Given the description of an element on the screen output the (x, y) to click on. 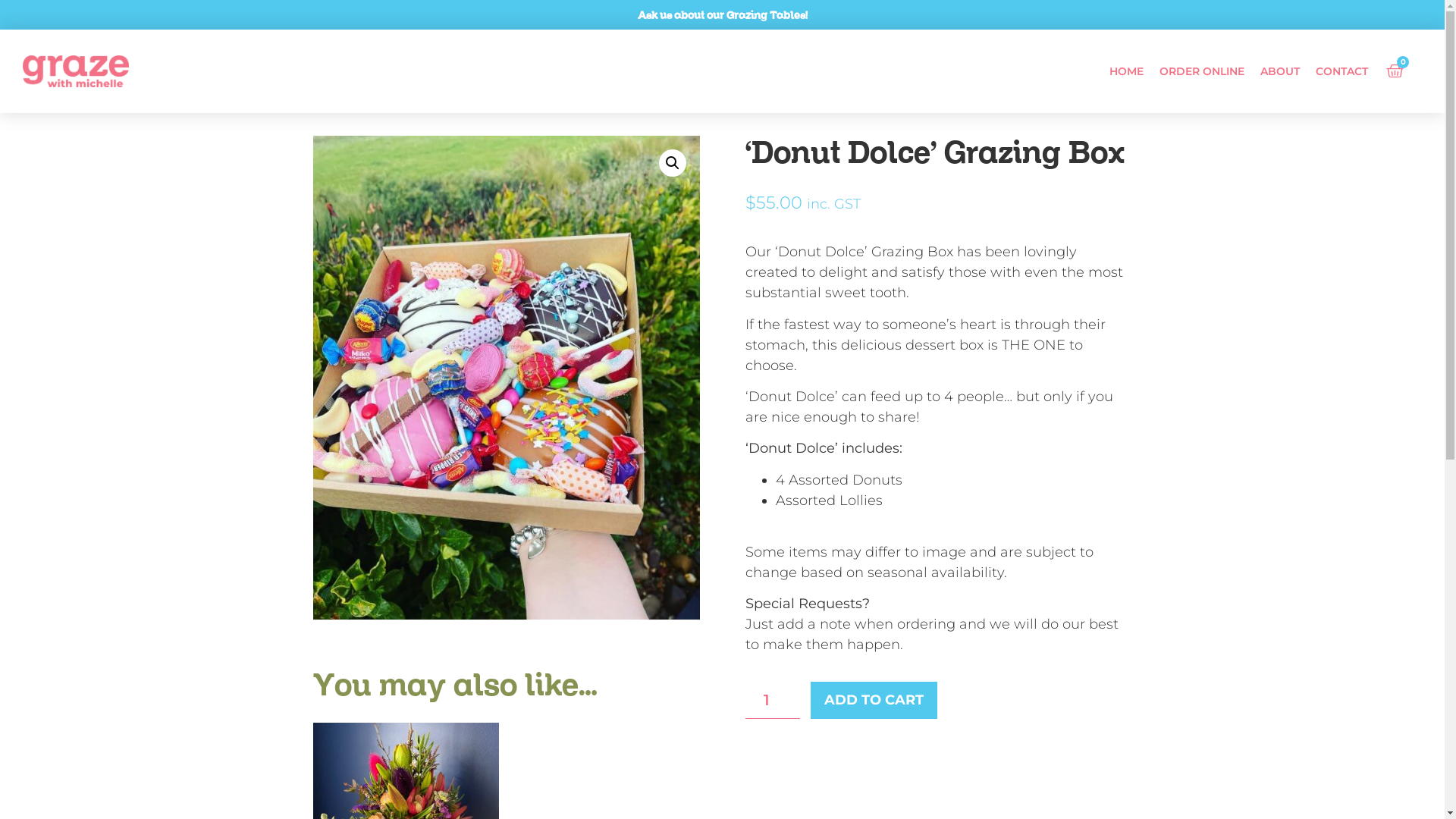
241426858_889168258677077_3848632554933527170_n Element type: hover (505, 377)
HOME Element type: text (1126, 70)
ABOUT Element type: text (1279, 70)
Ask us about our Grazing Tables! Element type: text (721, 15)
CONTACT Element type: text (1341, 70)
0 Element type: text (1394, 71)
ORDER ONLINE Element type: text (1201, 70)
ADD TO CART Element type: text (873, 699)
